Given the description of an element on the screen output the (x, y) to click on. 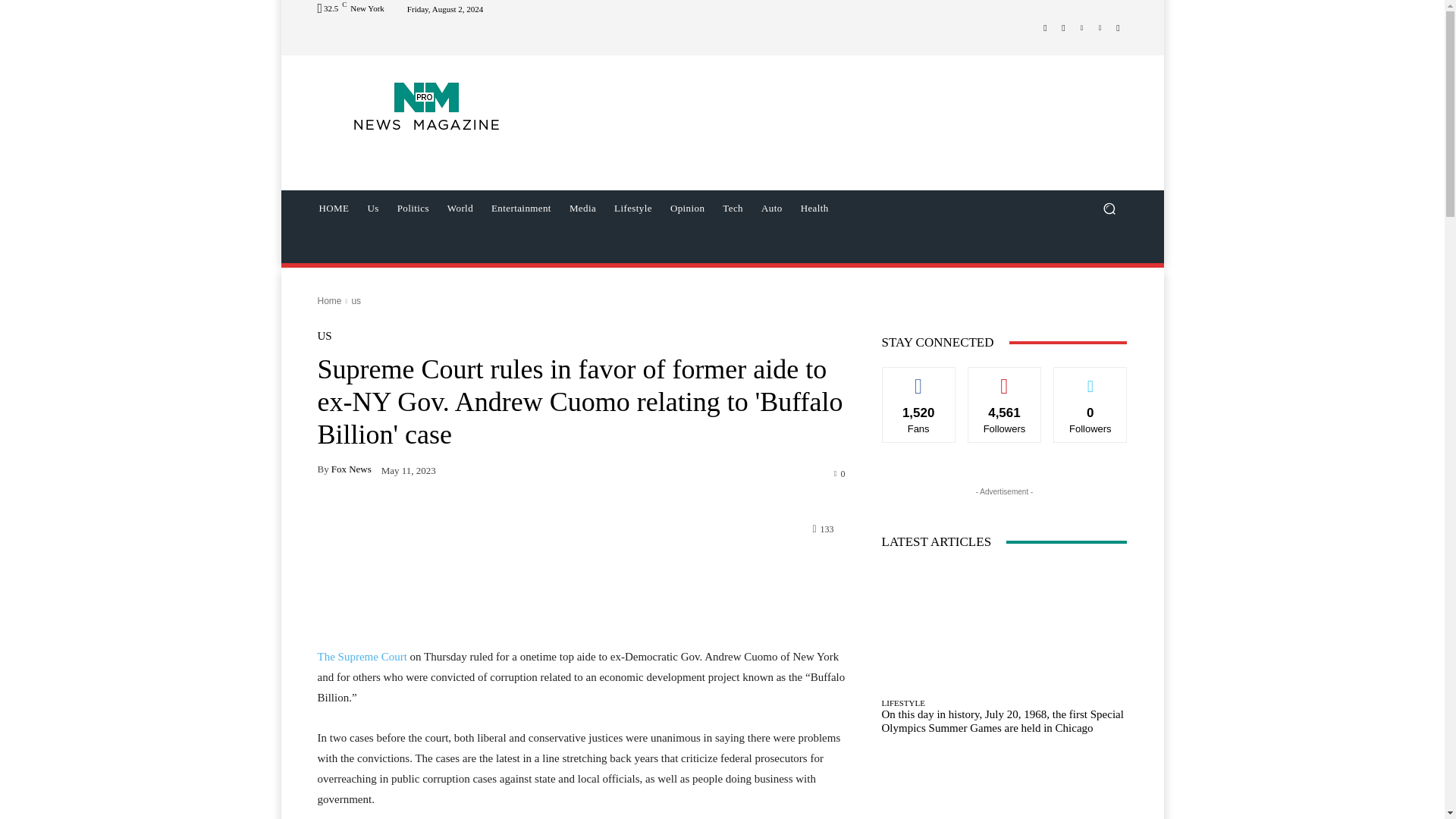
World (459, 208)
Instagram (1062, 27)
View all posts in us (355, 300)
Twitter (1080, 27)
Tech (732, 208)
Lifestyle (633, 208)
Auto (772, 208)
Media (582, 208)
Entertainment (520, 208)
Politics (413, 208)
HOME (333, 208)
Youtube (1117, 27)
Vimeo (1099, 27)
Facebook (1044, 27)
Opinion (687, 208)
